Given the description of an element on the screen output the (x, y) to click on. 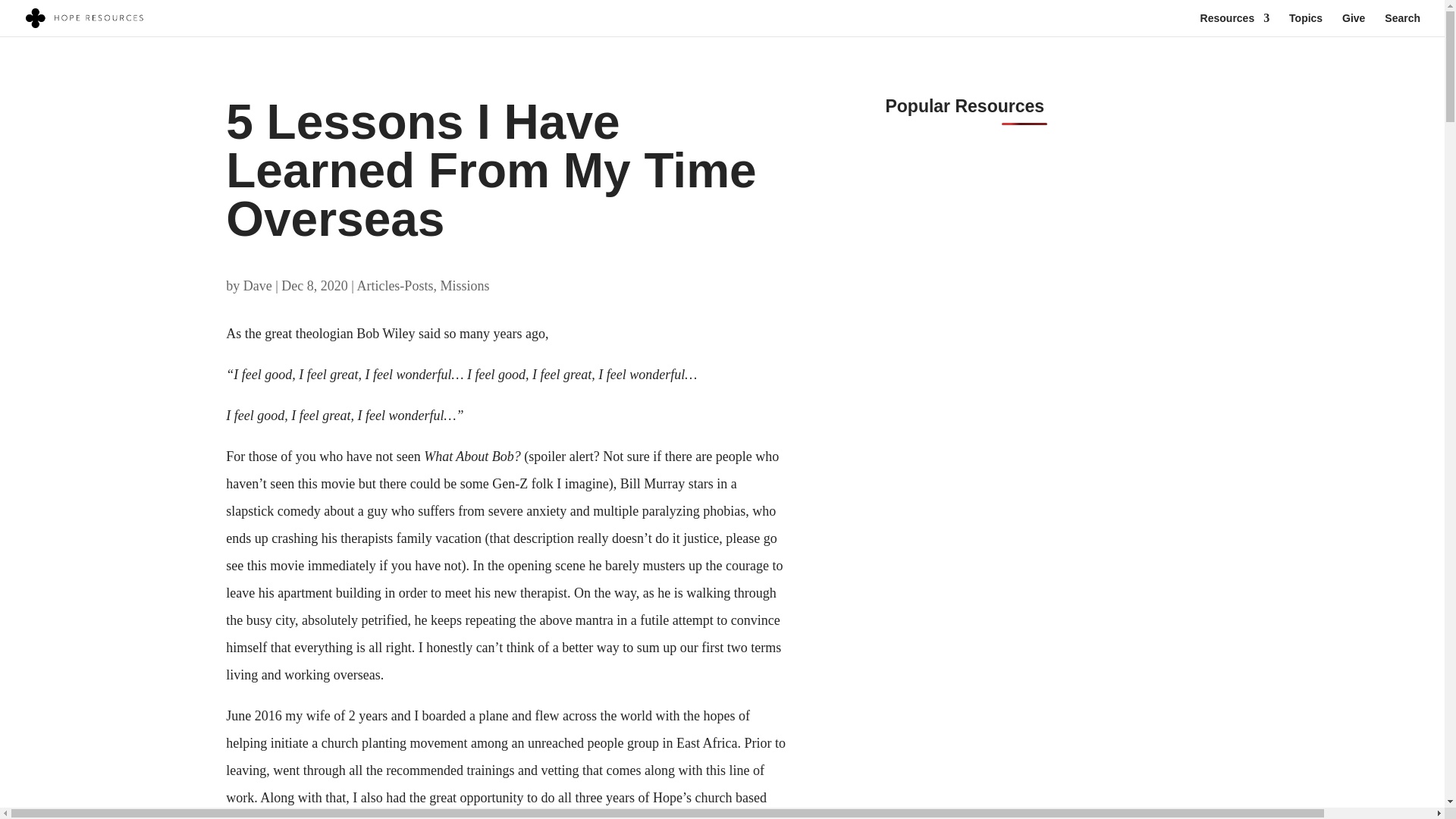
Dave (257, 285)
Resources (1234, 24)
Articles-Posts (394, 285)
Posts by Dave (257, 285)
Missions (464, 285)
Search (1402, 24)
Topics (1305, 24)
Give (1353, 24)
